Given the description of an element on the screen output the (x, y) to click on. 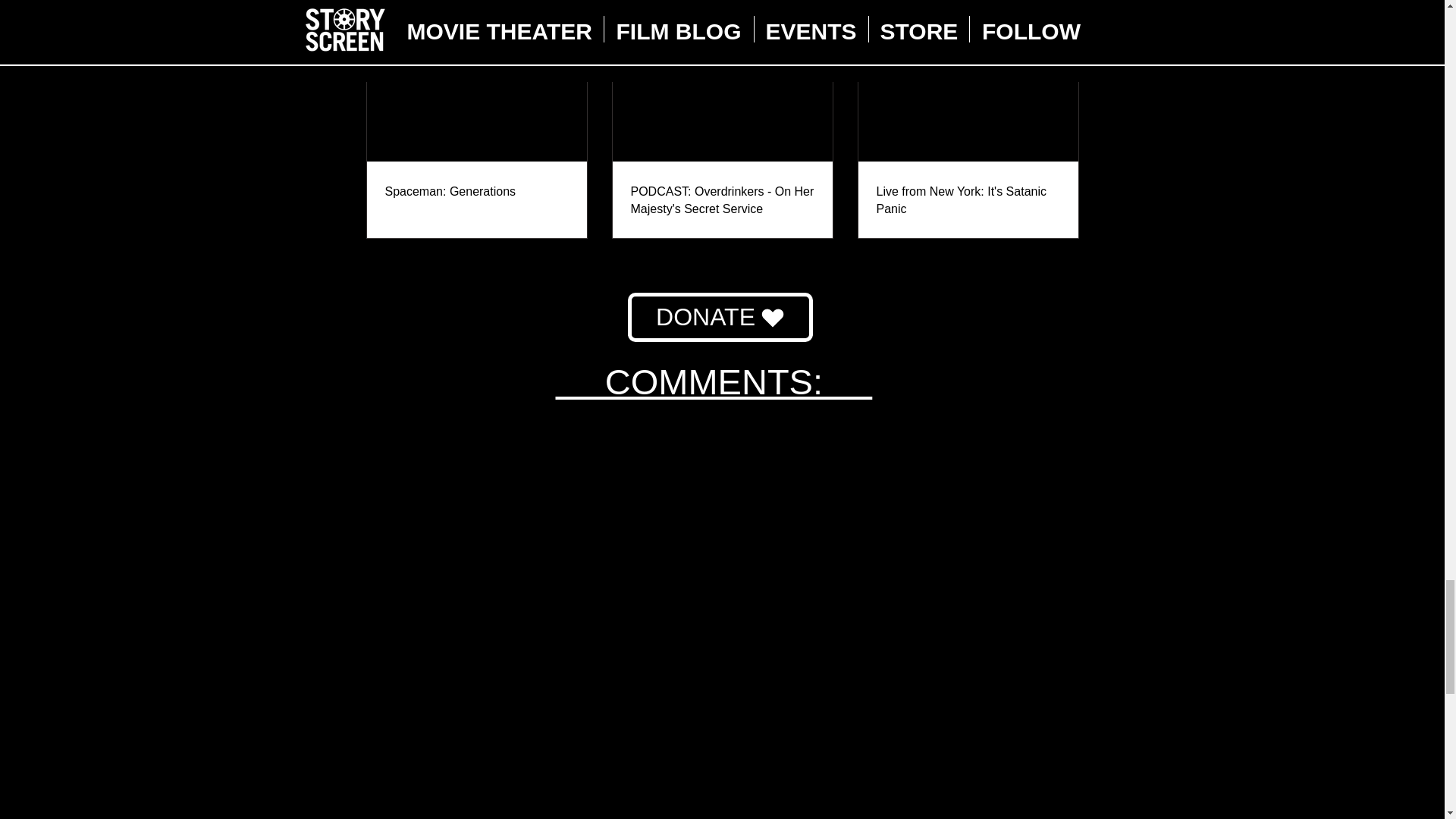
DONATE (719, 317)
Spaceman: Generations (477, 191)
PODCAST: Overdrinkers - On Her Majesty's Secret Service (721, 200)
Live from New York: It's Satanic Panic (967, 200)
